Given the description of an element on the screen output the (x, y) to click on. 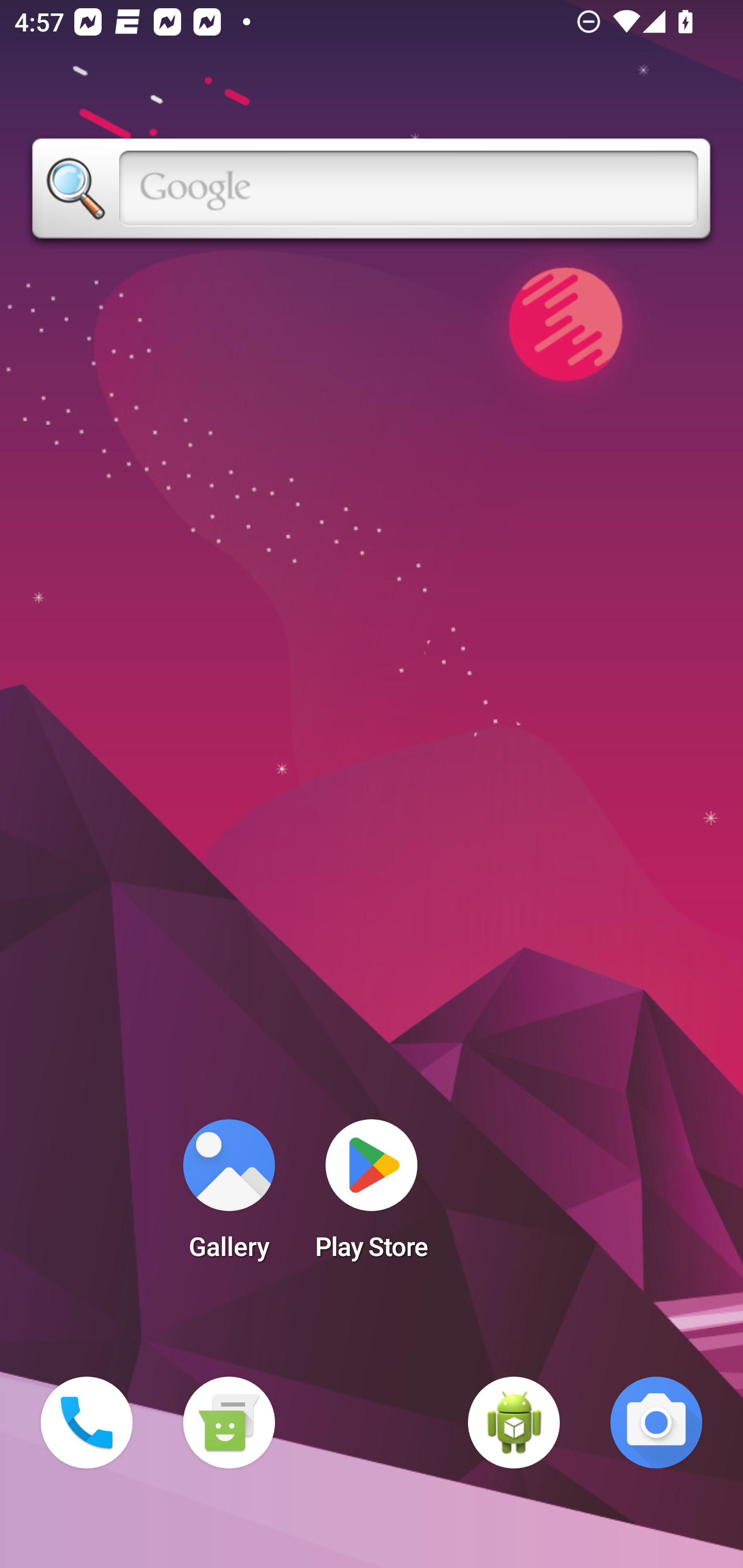
Gallery (228, 1195)
Play Store (371, 1195)
Phone (86, 1422)
Messaging (228, 1422)
WebView Browser Tester (513, 1422)
Camera (656, 1422)
